Given the description of an element on the screen output the (x, y) to click on. 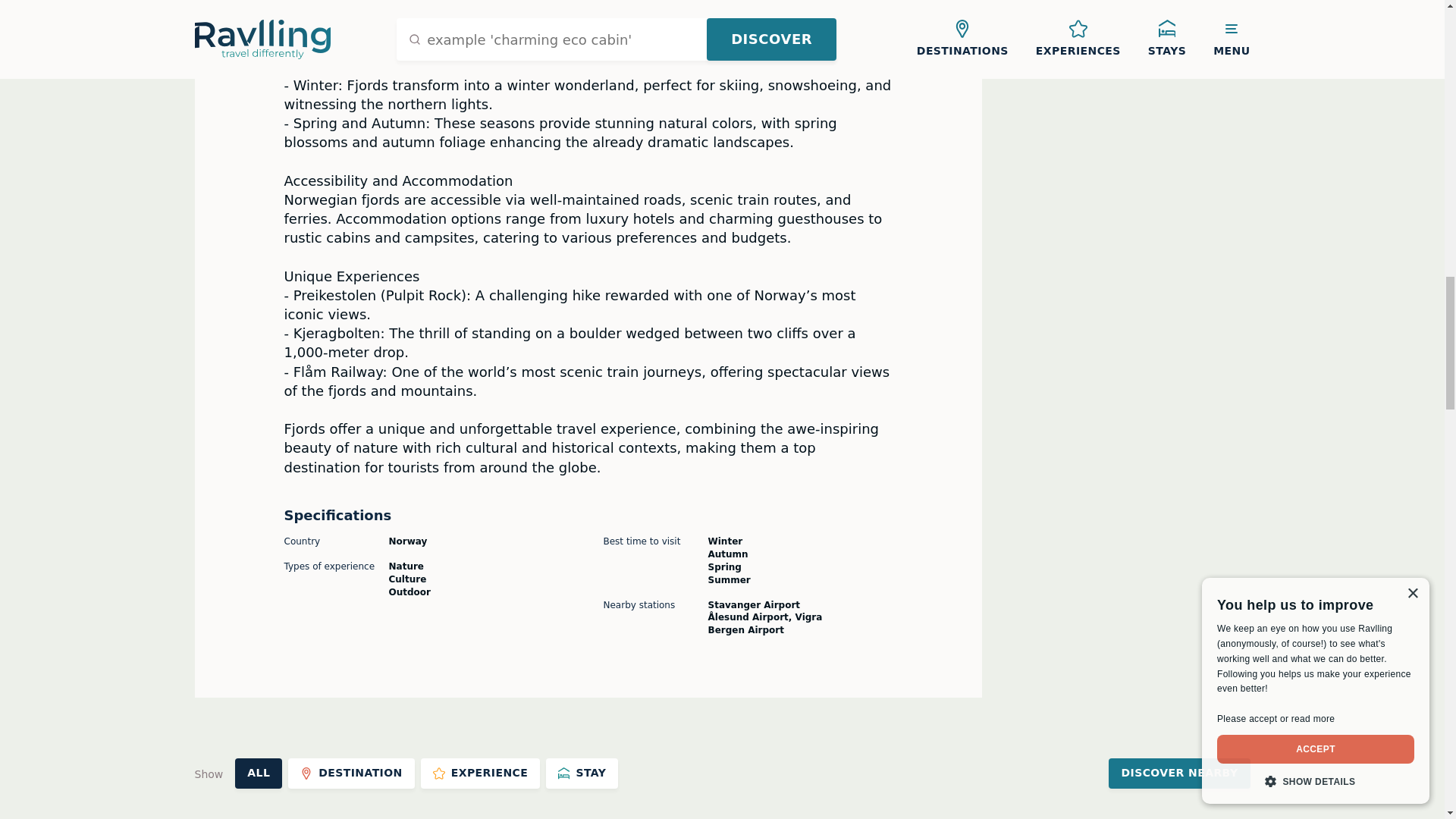
ALL (258, 773)
DESTINATION (351, 773)
STAY (581, 773)
EXPERIENCE (480, 773)
DISCOVER NEARBY (1178, 773)
